Given the description of an element on the screen output the (x, y) to click on. 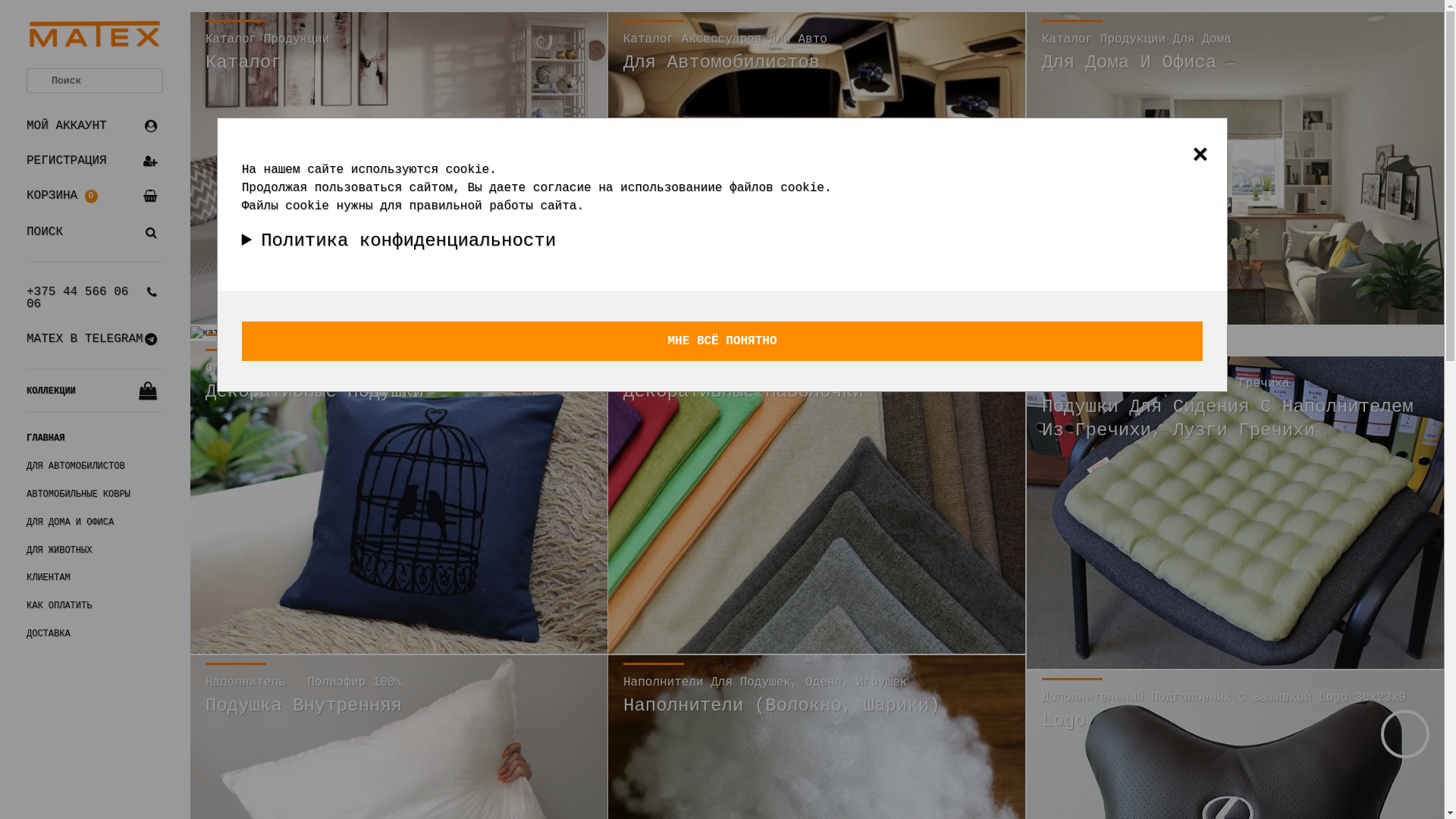
+375 44 566 06 06 Element type: text (94, 297)
